Given the description of an element on the screen output the (x, y) to click on. 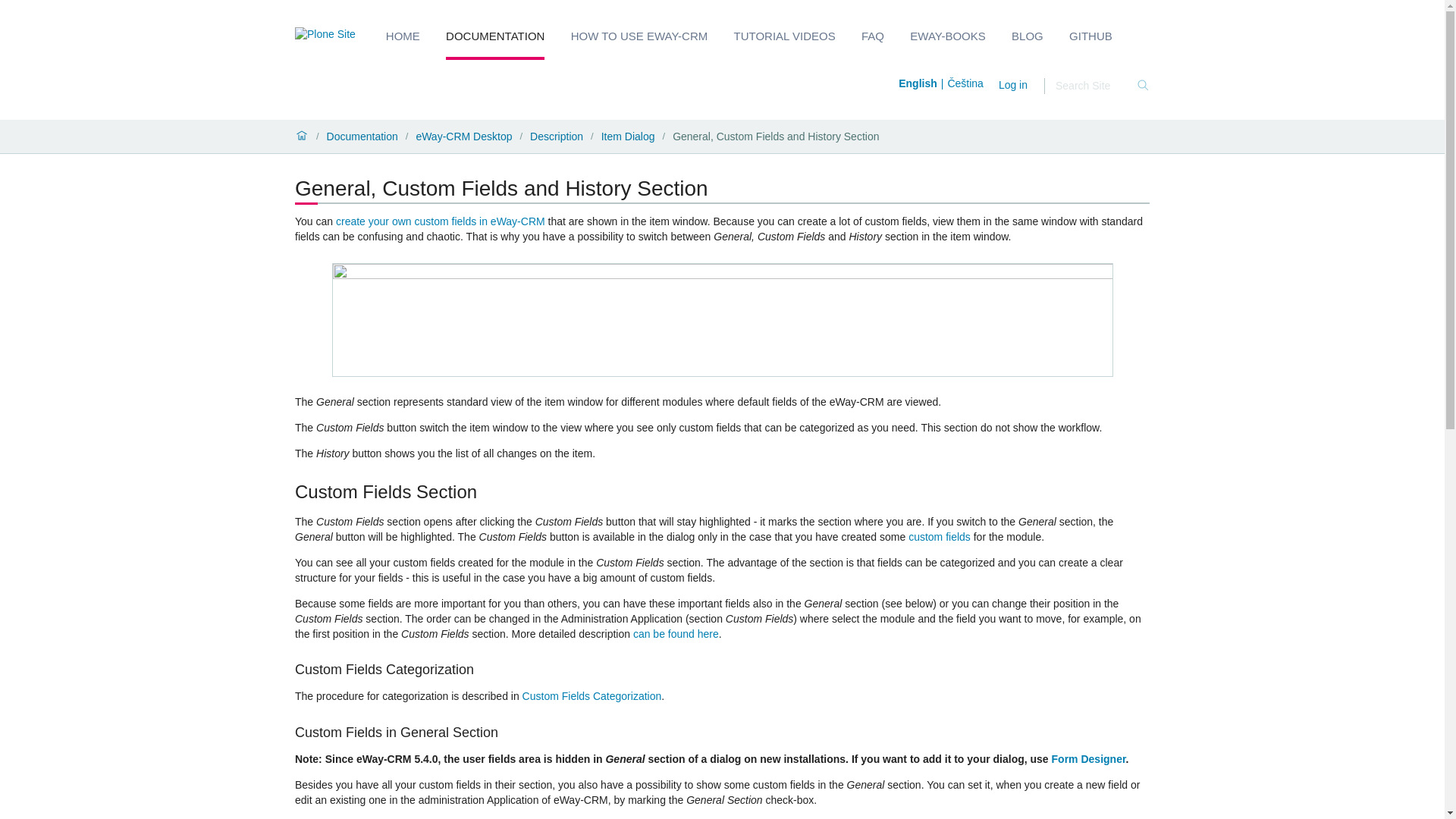
EWAY-BOOKS (947, 34)
Site (325, 34)
Form Designer (1088, 758)
Log in (1012, 84)
HOW TO USE EWAY-CRM (638, 34)
eWay-CRM Desktop (463, 136)
Home (301, 136)
create your own custom fields in eWay-CRM (440, 221)
English (922, 83)
can be found here (676, 633)
